Given the description of an element on the screen output the (x, y) to click on. 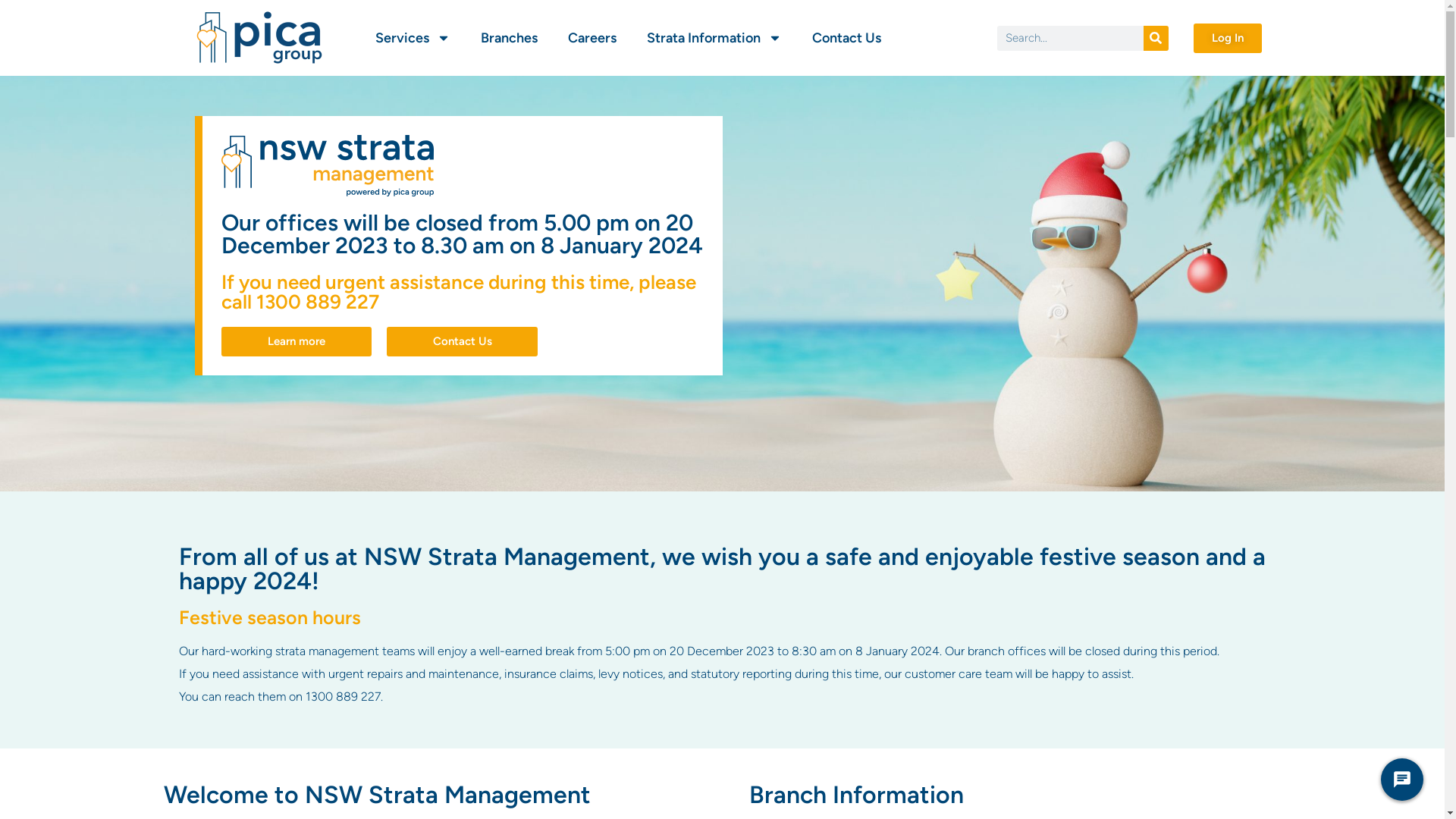
Log In Element type: text (1227, 37)
Contact Us Element type: text (461, 341)
Branches Element type: text (508, 37)
PICA_Logo_2023 Element type: hover (259, 37)
Genesys Messenger Launcher Element type: hover (1401, 782)
Learn more Element type: text (296, 341)
Services Element type: text (411, 37)
Careers Element type: text (591, 37)
Strata Information Element type: text (713, 37)
Contact Us Element type: text (845, 37)
